Given the description of an element on the screen output the (x, y) to click on. 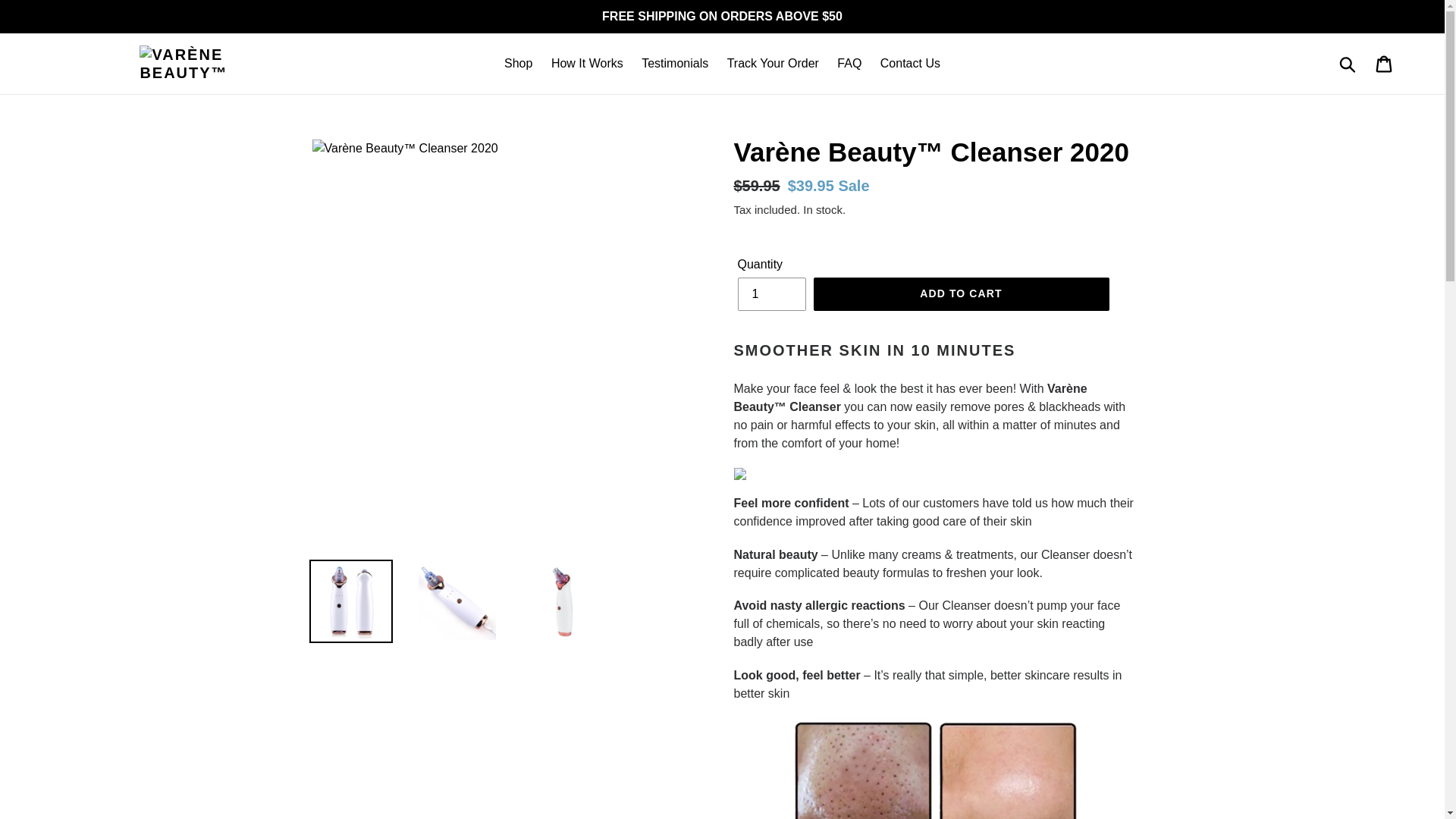
Submit (1348, 63)
Cart (1385, 63)
ADD TO CART (960, 294)
Contact Us (909, 63)
How It Works (586, 63)
1 (770, 294)
Testimonials (674, 63)
Track Your Order (773, 63)
Shop (518, 63)
FAQ (849, 63)
